Given the description of an element on the screen output the (x, y) to click on. 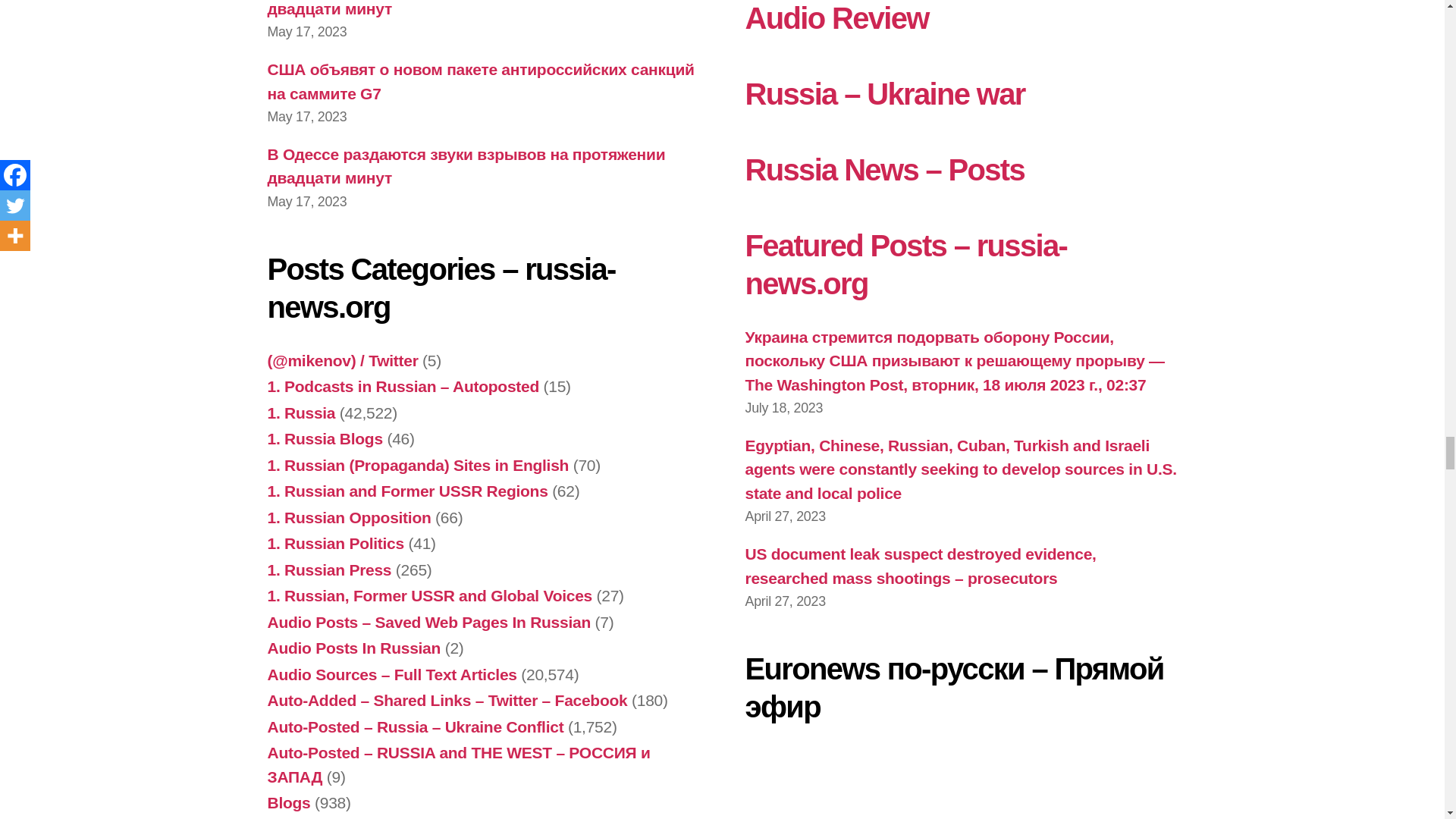
YouTube video player (956, 783)
